Given the description of an element on the screen output the (x, y) to click on. 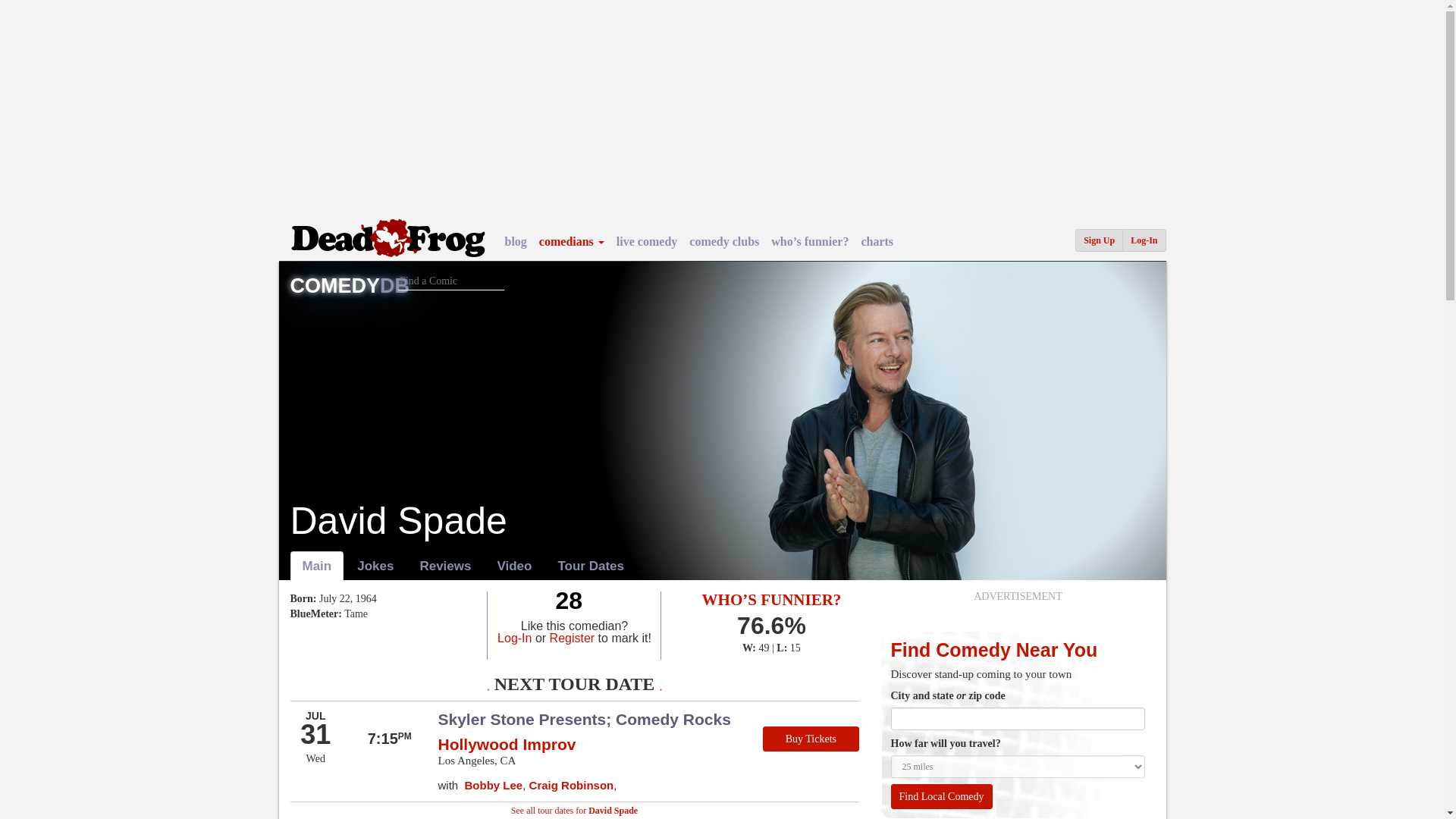
Comedy Clubs (723, 241)
live comedy (646, 241)
iTunes Top 100 Comedy Albums (876, 241)
Log-In (1144, 240)
Tour Dates (590, 565)
Live Comedy (646, 241)
blog (515, 241)
Sign Up (1098, 240)
Craig Robinson (571, 784)
Find Local Comedy (940, 796)
Comedy Blog and Comedy News (515, 241)
Video (513, 565)
Reviews (445, 565)
Jokes (375, 565)
comedians (571, 241)
